Given the description of an element on the screen output the (x, y) to click on. 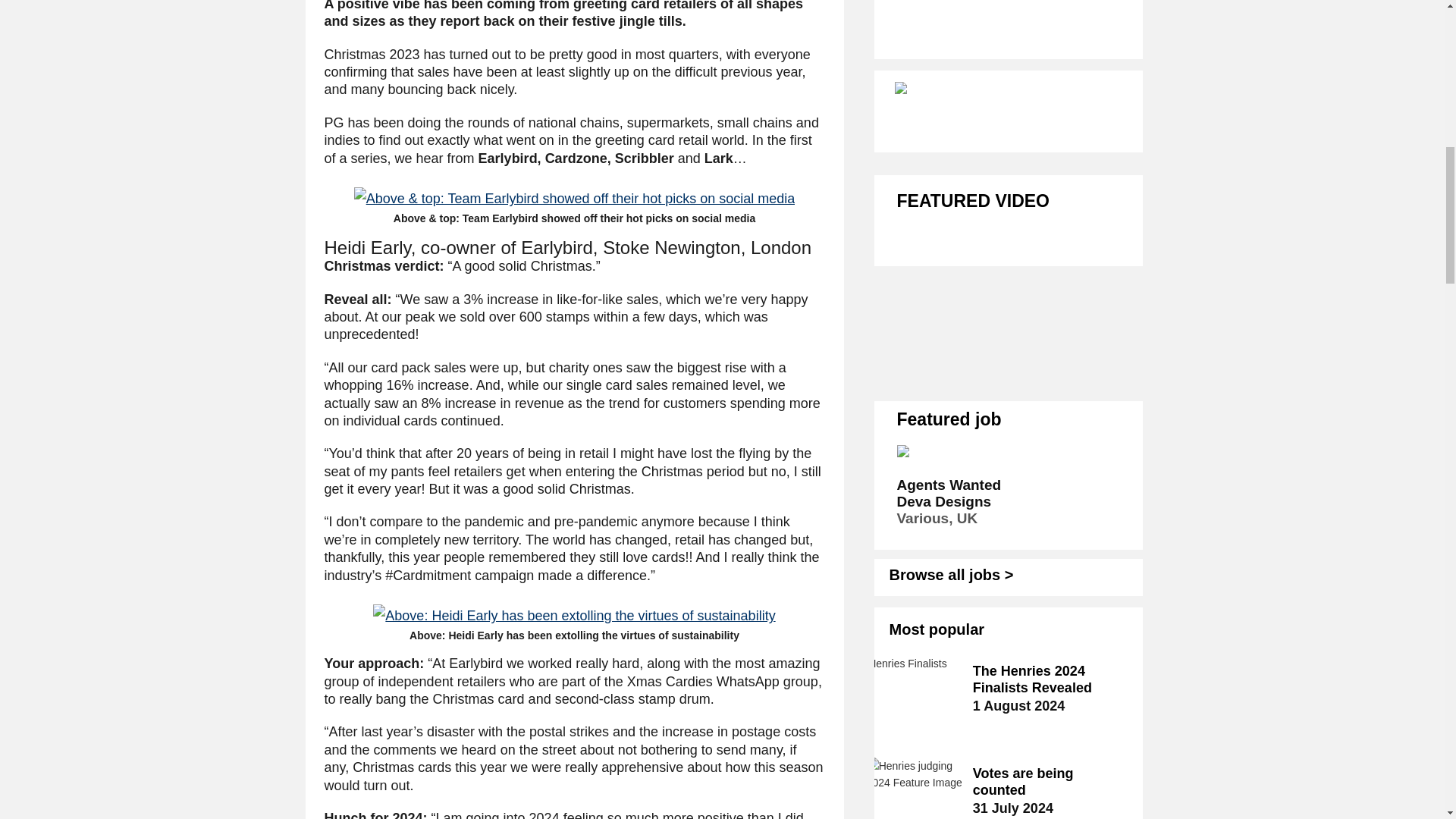
YouTube video player (1007, 302)
